Given the description of an element on the screen output the (x, y) to click on. 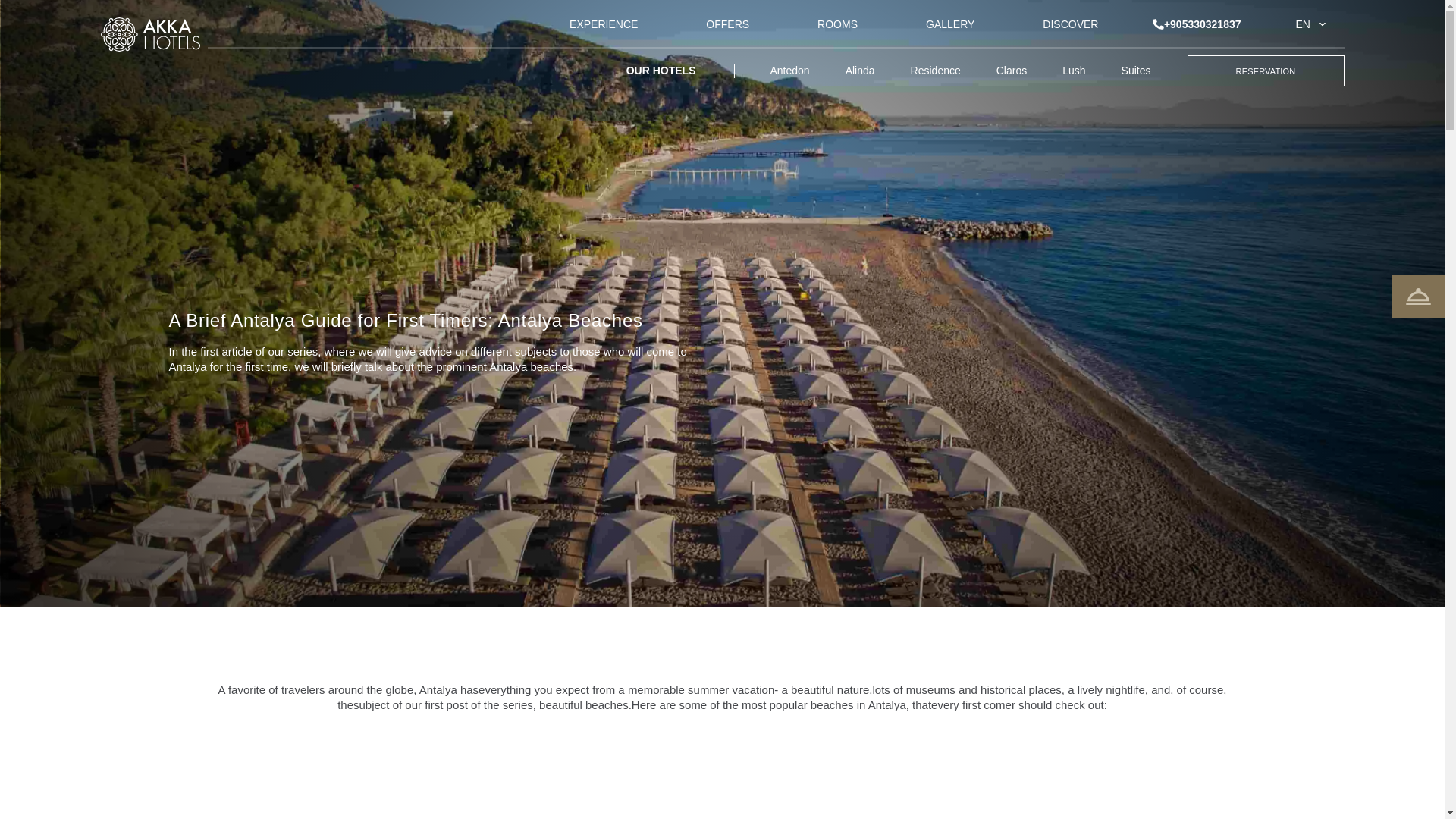
EXPERIENCE (603, 24)
GALLERY (950, 24)
OUR HOTELS (660, 70)
Antedon (789, 70)
OFFERS (727, 24)
RESERVATION (1265, 70)
Suites (1136, 70)
Claros (1010, 70)
OFFERS (727, 24)
ROOMS (836, 24)
EXPERIENCE (603, 24)
Lush (1073, 70)
AKKA HOTELS (153, 30)
GALLERY (950, 24)
DISCOVER (1069, 24)
